Given the description of an element on the screen output the (x, y) to click on. 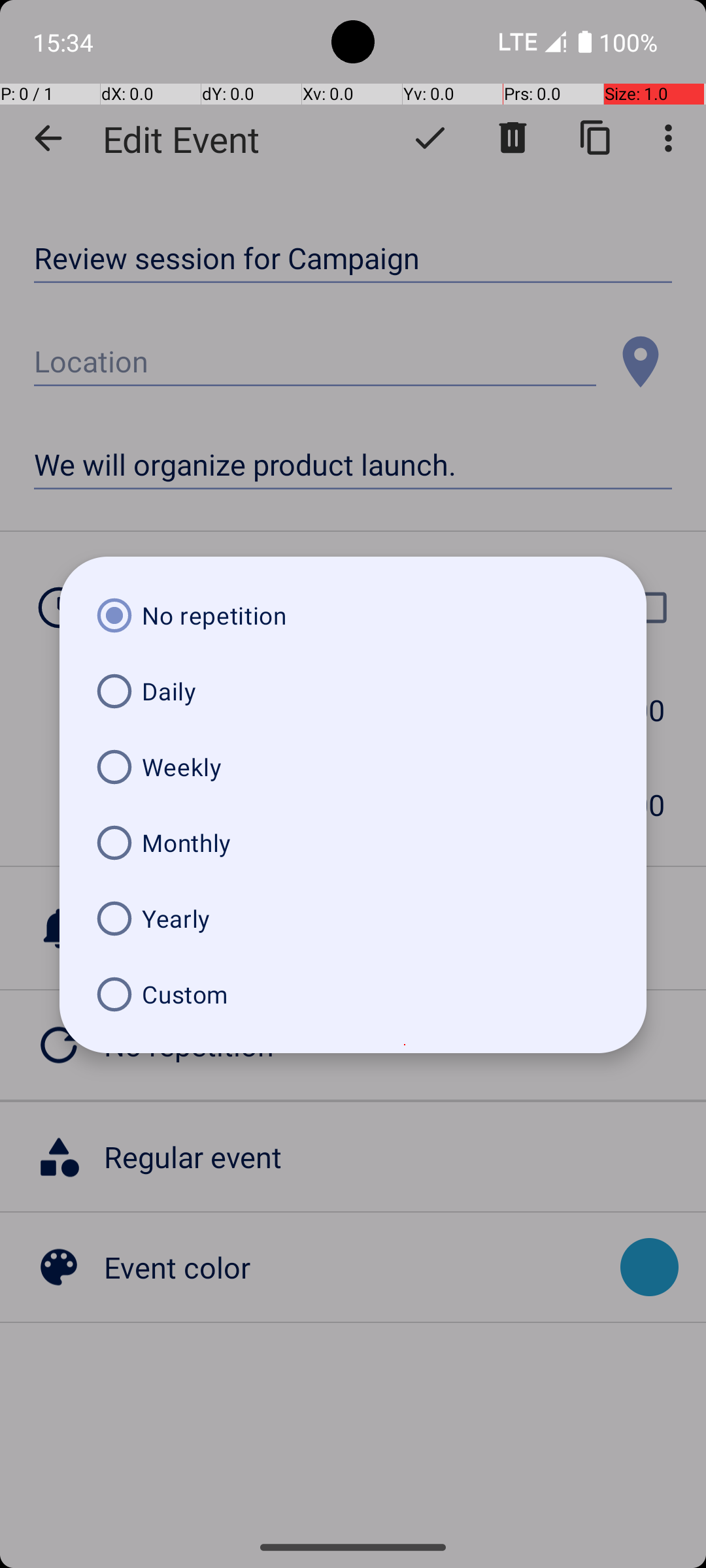
Daily Element type: android.widget.RadioButton (352, 691)
Weekly Element type: android.widget.RadioButton (352, 766)
Monthly Element type: android.widget.RadioButton (352, 842)
Yearly Element type: android.widget.RadioButton (352, 918)
